Given the description of an element on the screen output the (x, y) to click on. 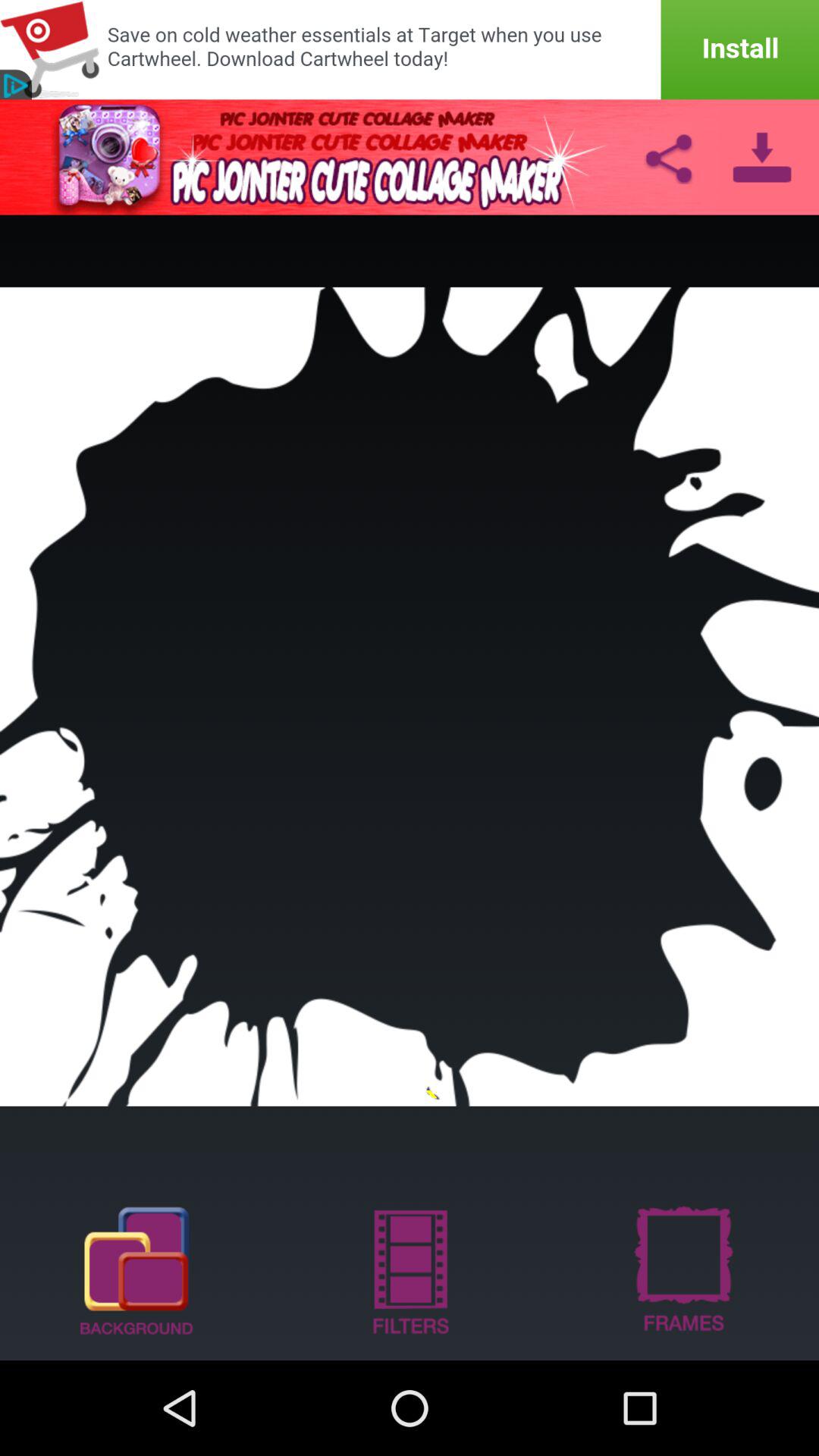
background (136, 1269)
